Given the description of an element on the screen output the (x, y) to click on. 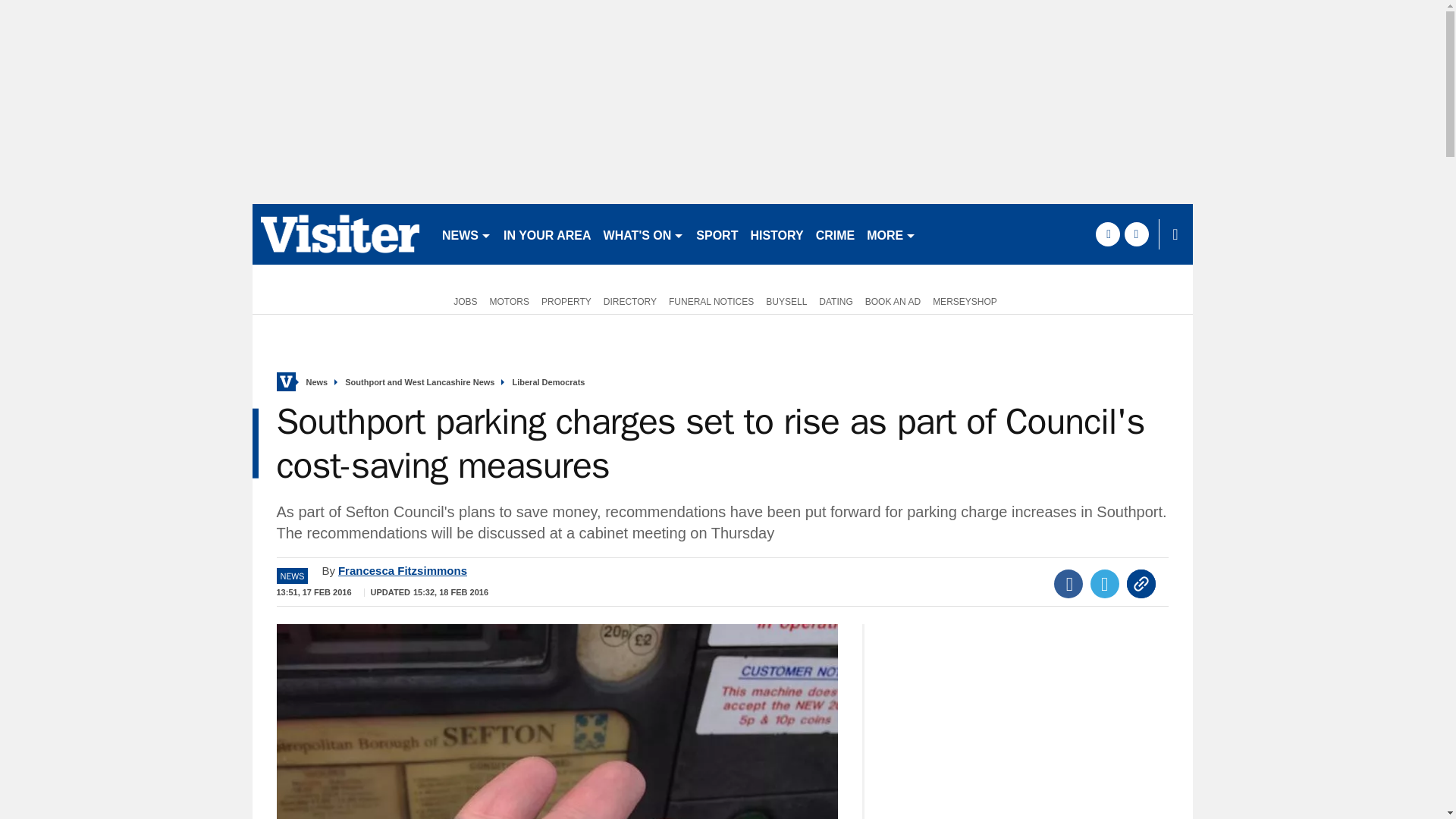
Home (285, 381)
NEWS (466, 233)
MERSEYSHOP (964, 300)
DIRECTORY (629, 300)
MOTORS (509, 300)
BOOK AN AD (892, 300)
DATING (835, 300)
WHAT'S ON (643, 233)
Facebook (1068, 583)
JOBS (462, 300)
IN YOUR AREA (546, 233)
FUNERAL NOTICES (711, 300)
Twitter (1104, 583)
southportvisiter (339, 233)
twitter (1136, 233)
